Given the description of an element on the screen output the (x, y) to click on. 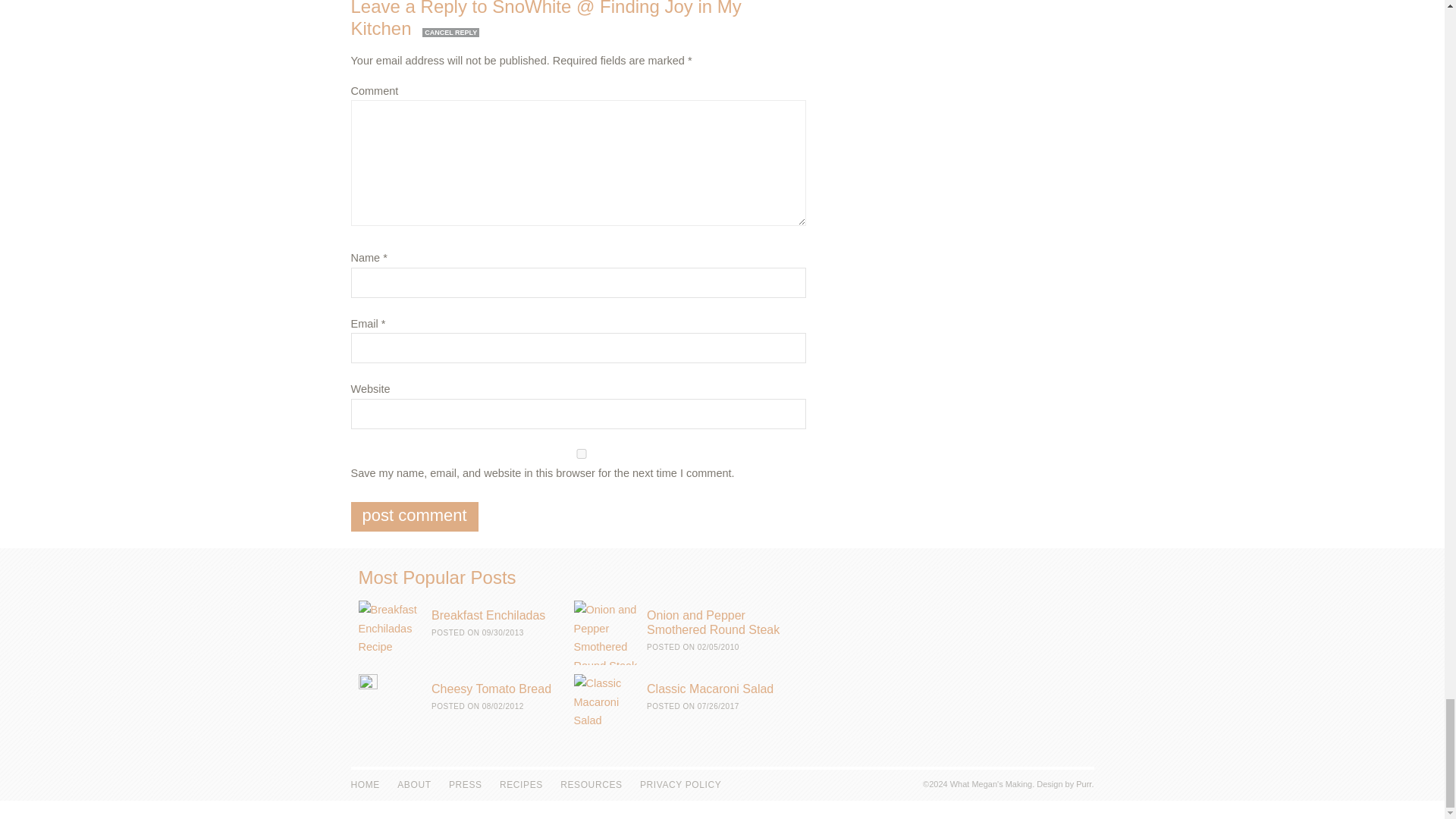
yes (580, 453)
Post Comment (413, 516)
